Given the description of an element on the screen output the (x, y) to click on. 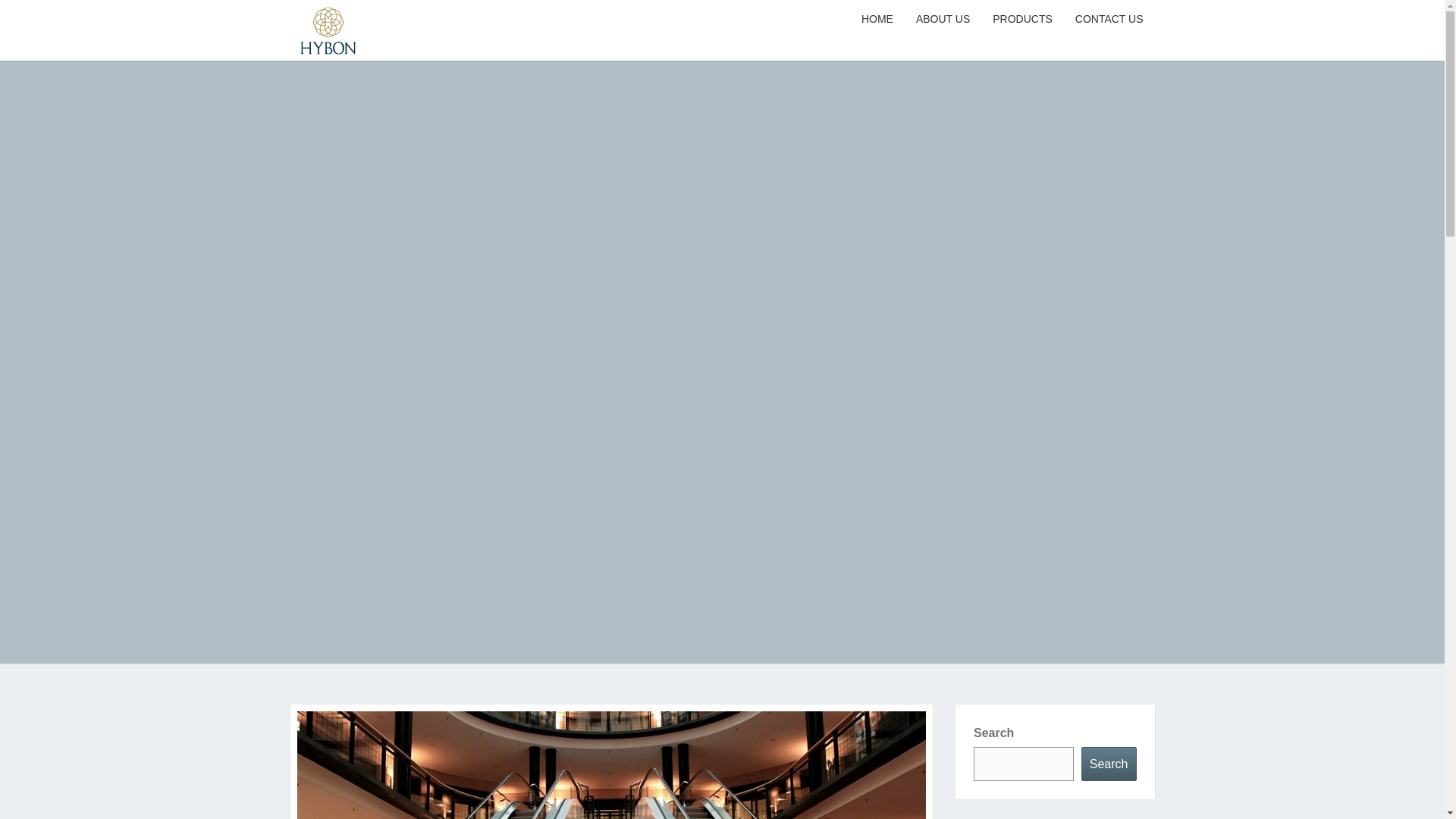
PRODUCTS (1022, 19)
HOME (877, 19)
Search (1109, 763)
CONTACT US (1109, 19)
ABOUT US (942, 19)
